Given the description of an element on the screen output the (x, y) to click on. 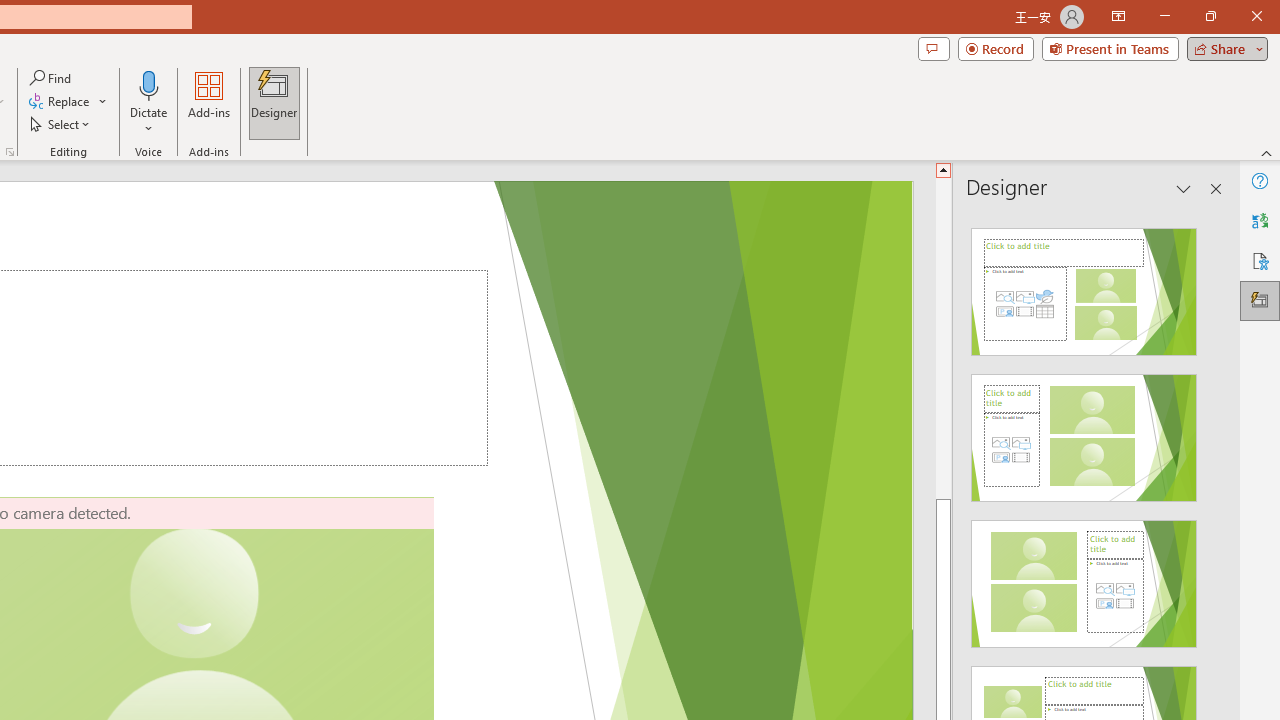
Translator (1260, 220)
Select (61, 124)
Recommended Design: Design Idea (1083, 286)
Design Idea (1083, 577)
Page up (943, 337)
